Given the description of an element on the screen output the (x, y) to click on. 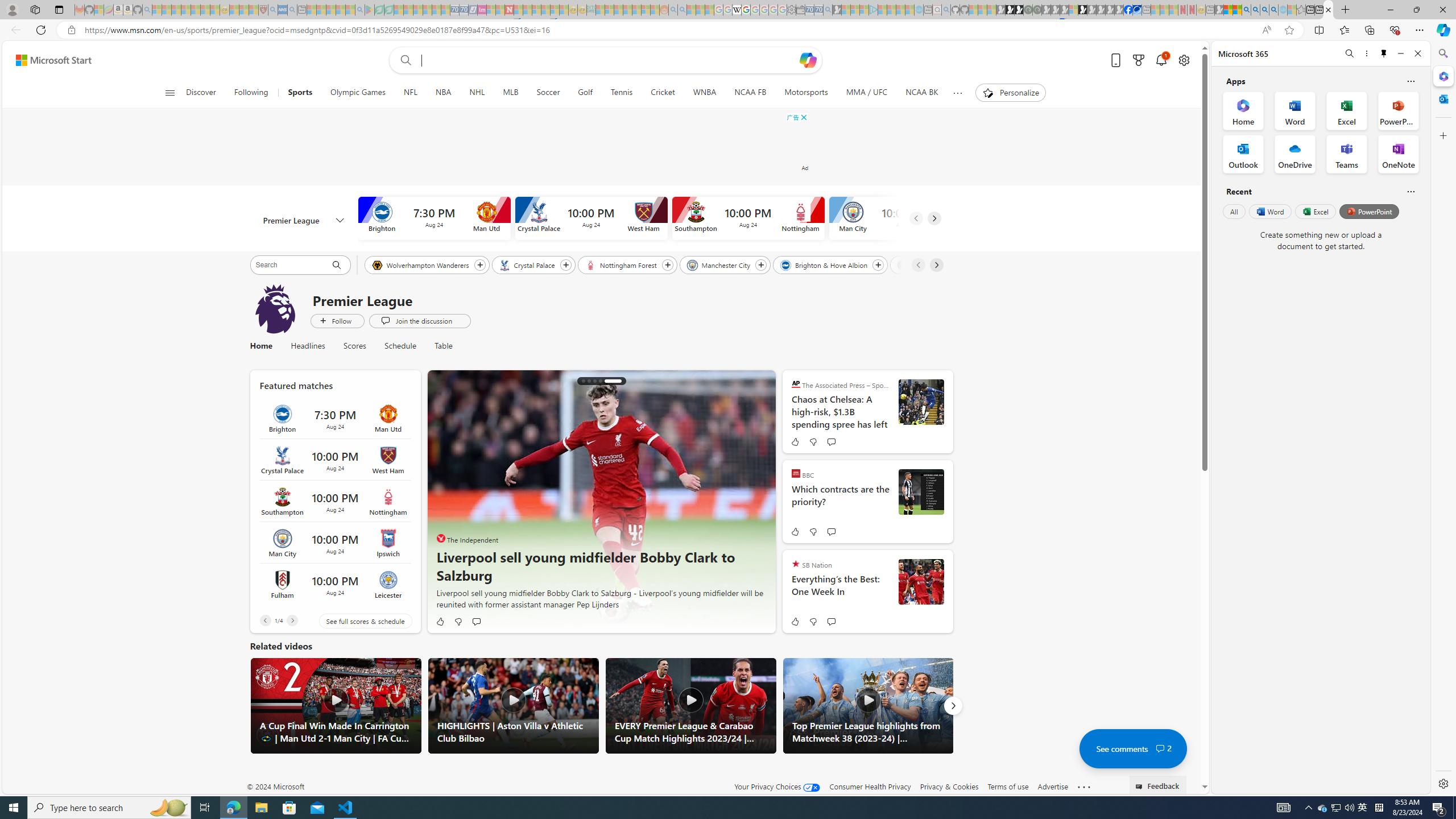
Teams Office App (1346, 154)
Follow Wolverhampton Wanderers (479, 265)
OneNote Office App (1398, 154)
Soccer (547, 92)
